Given the description of an element on the screen output the (x, y) to click on. 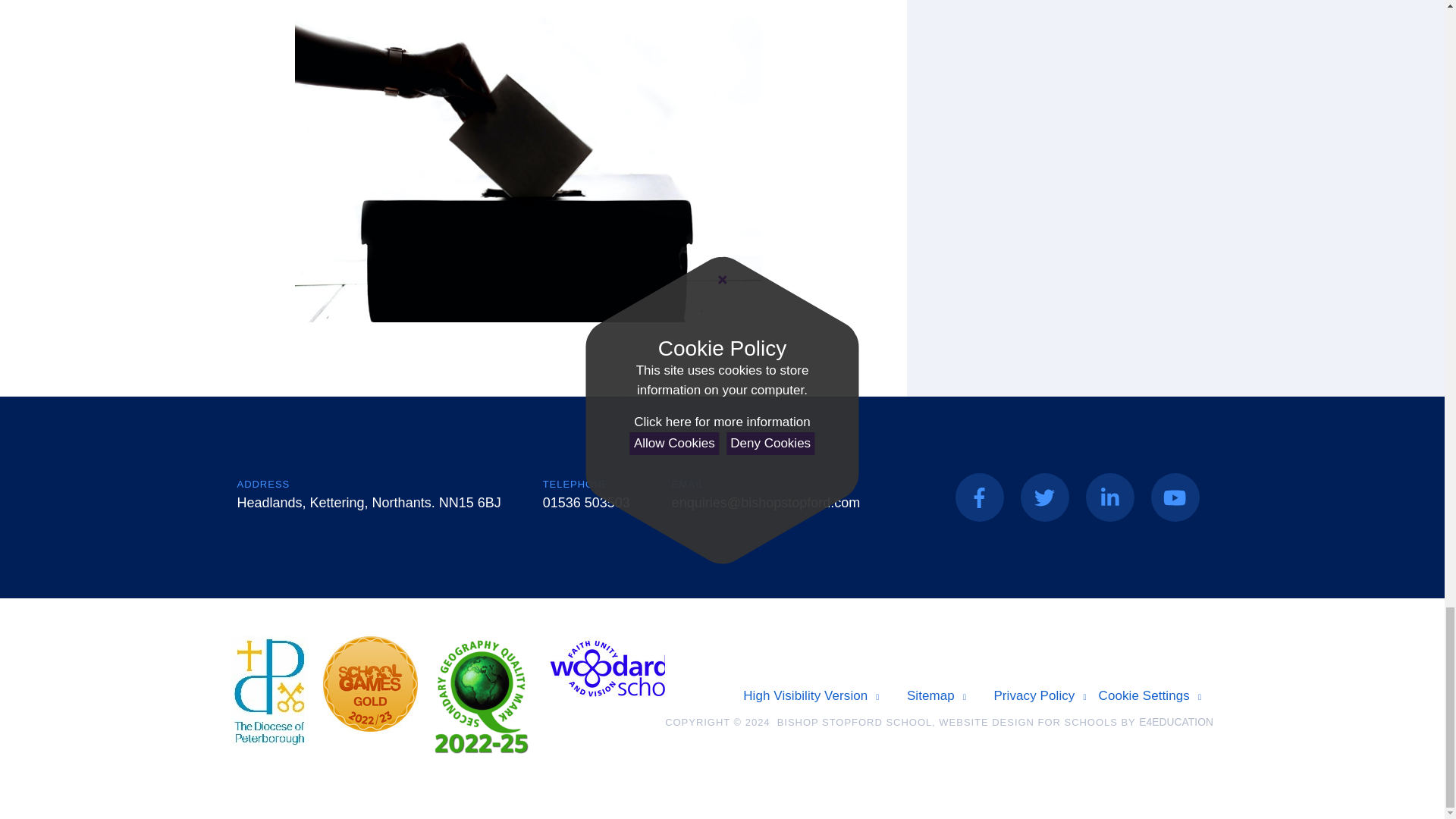
Cookie Settings (1149, 695)
